Given the description of an element on the screen output the (x, y) to click on. 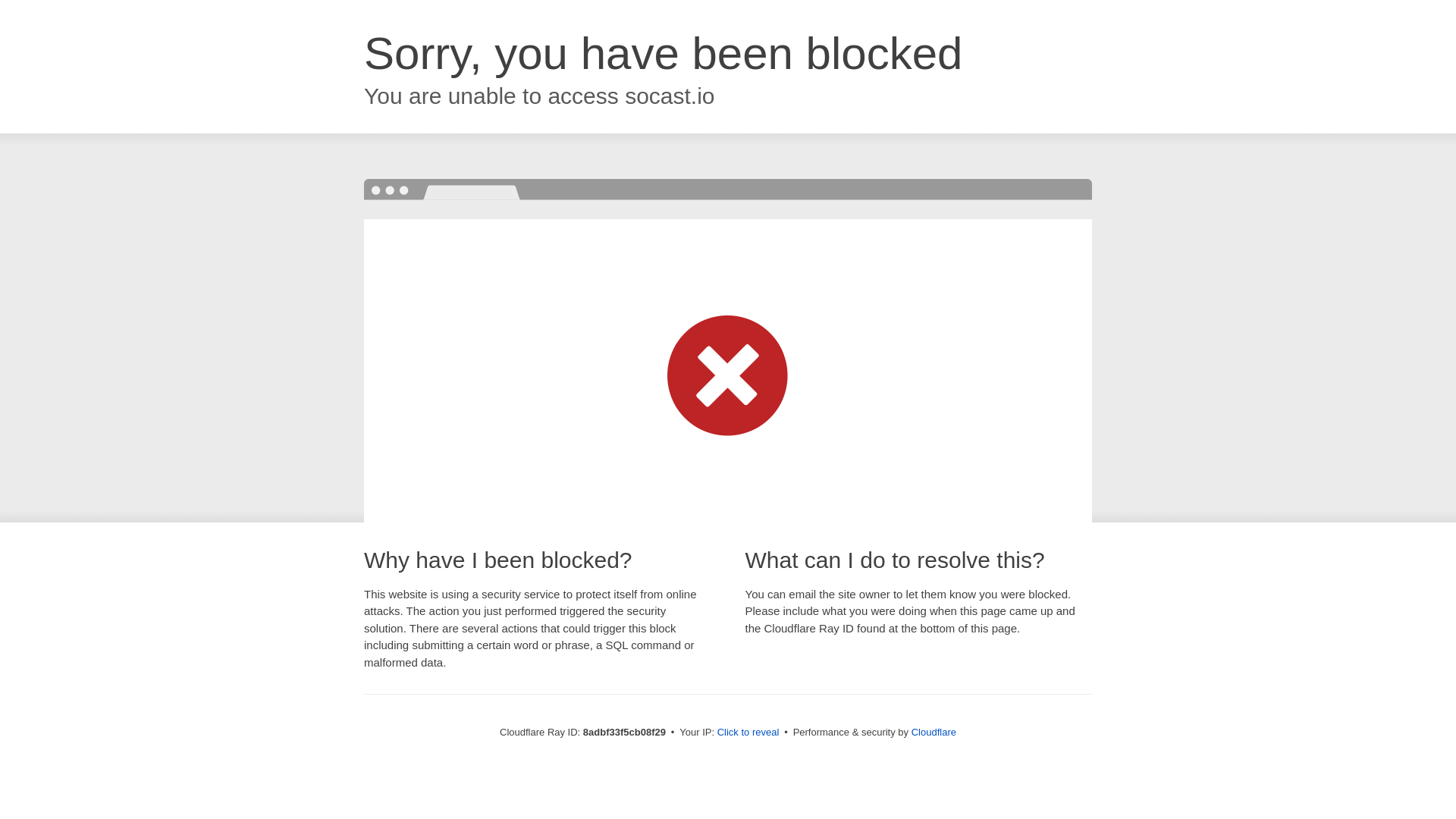
Cloudflare (933, 731)
Click to reveal (747, 732)
